Given the description of an element on the screen output the (x, y) to click on. 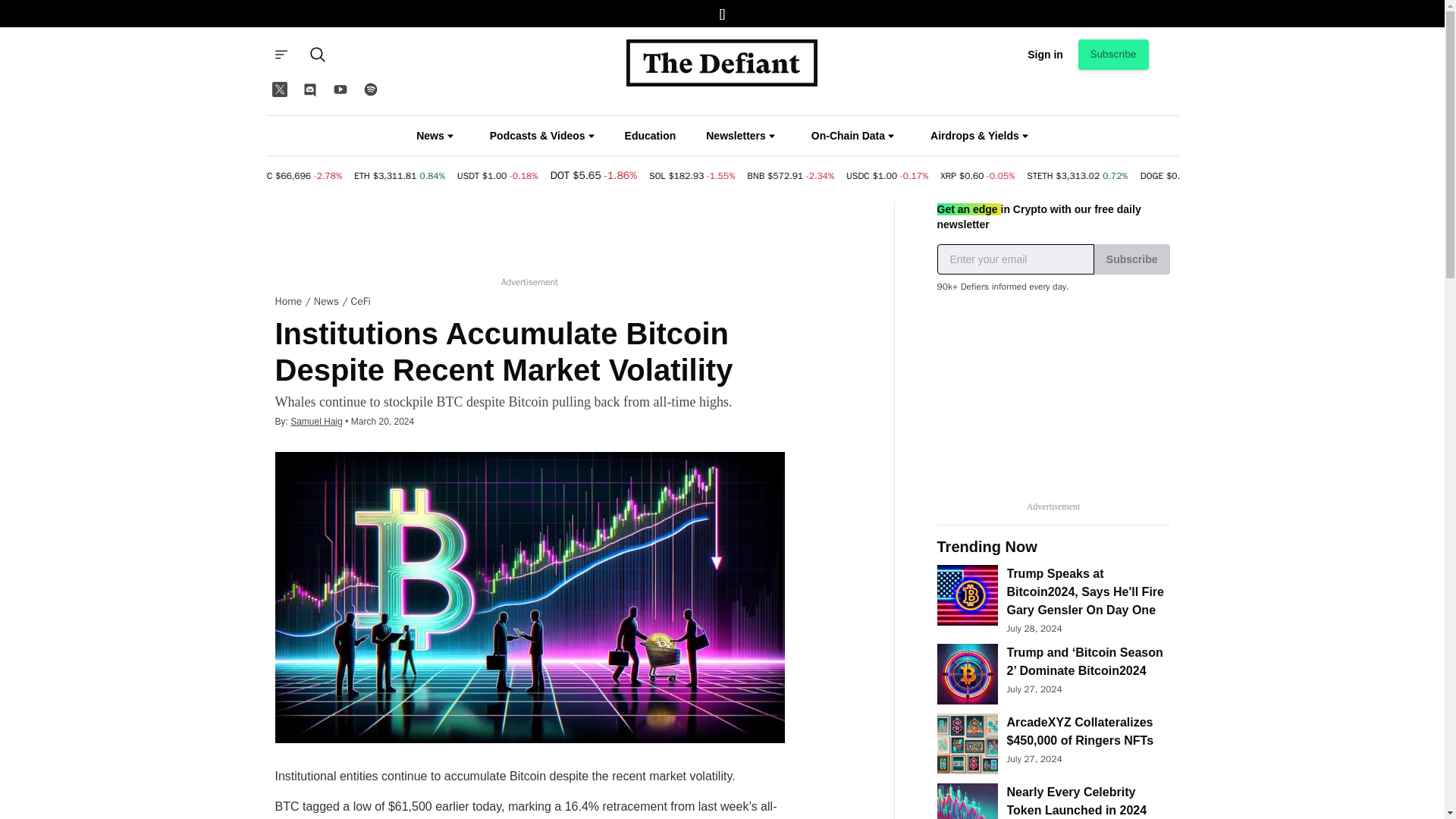
Sign in (1044, 54)
Spotify (370, 89)
Discord (309, 89)
Newsletters (740, 135)
Twitter (278, 89)
Subscribe (1113, 54)
Hamburguer button (279, 54)
YouTube (339, 89)
On-Chain Data (851, 135)
Education (650, 135)
News (434, 135)
